Given the description of an element on the screen output the (x, y) to click on. 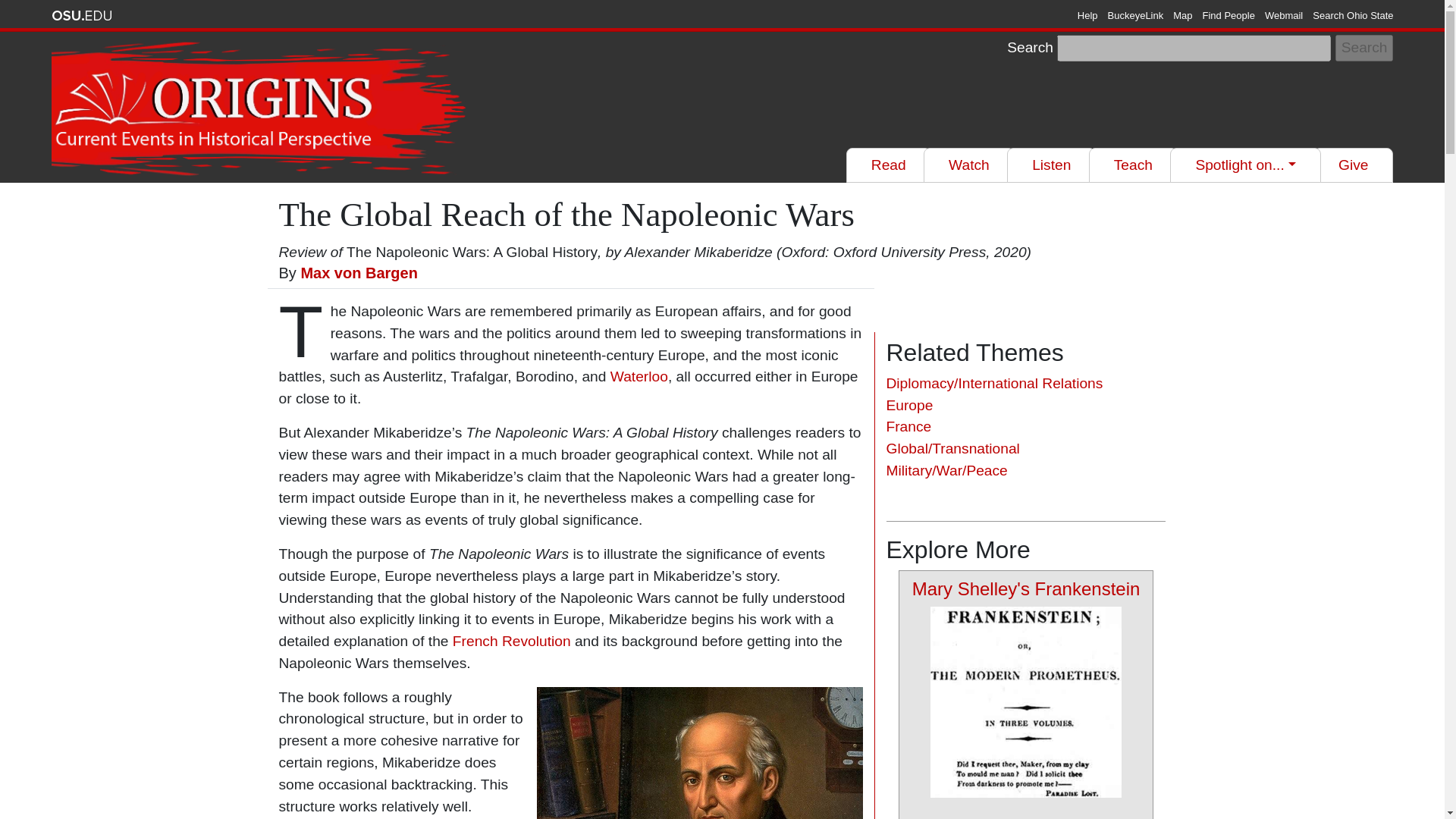
French Revolution (509, 641)
The Ohio State University website (81, 15)
BuckeyeLink (1135, 15)
Home (260, 109)
Watch (968, 165)
Webmail (1284, 15)
Search (1364, 48)
Search Ohio State (1353, 15)
Help (1087, 15)
Waterloo (639, 376)
The Ohio State University website (81, 15)
Teach (1133, 165)
Max von Bargen (357, 272)
Map (1182, 15)
Search (1364, 48)
